Given the description of an element on the screen output the (x, y) to click on. 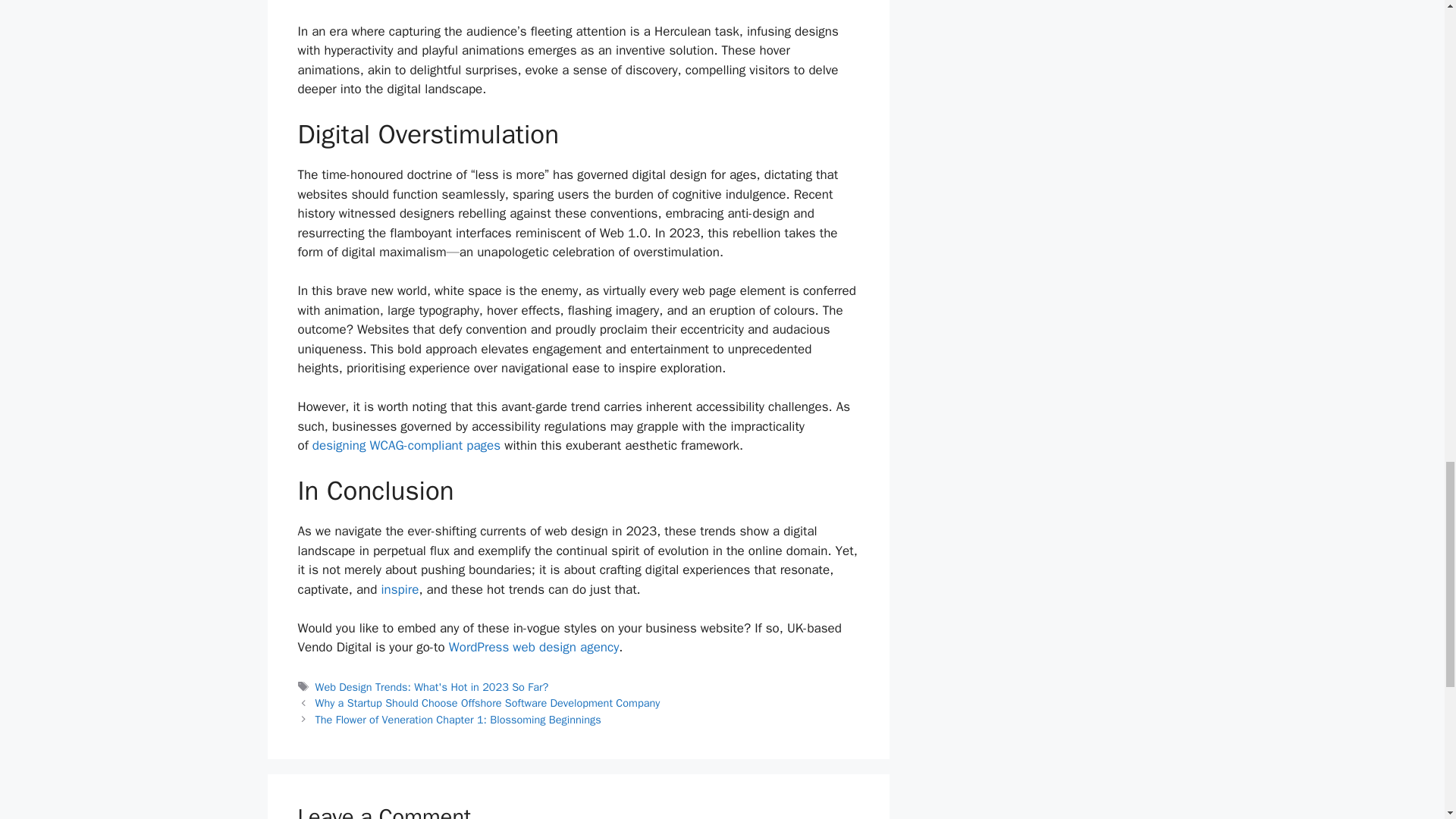
inspire (399, 589)
Web Design Trends: What's Hot in 2023 So Far? (431, 686)
The Flower of Veneration Chapter 1: Blossoming Beginnings (458, 719)
designing WCAG-compliant pages (406, 445)
WordPress web design agency (533, 647)
